Given the description of an element on the screen output the (x, y) to click on. 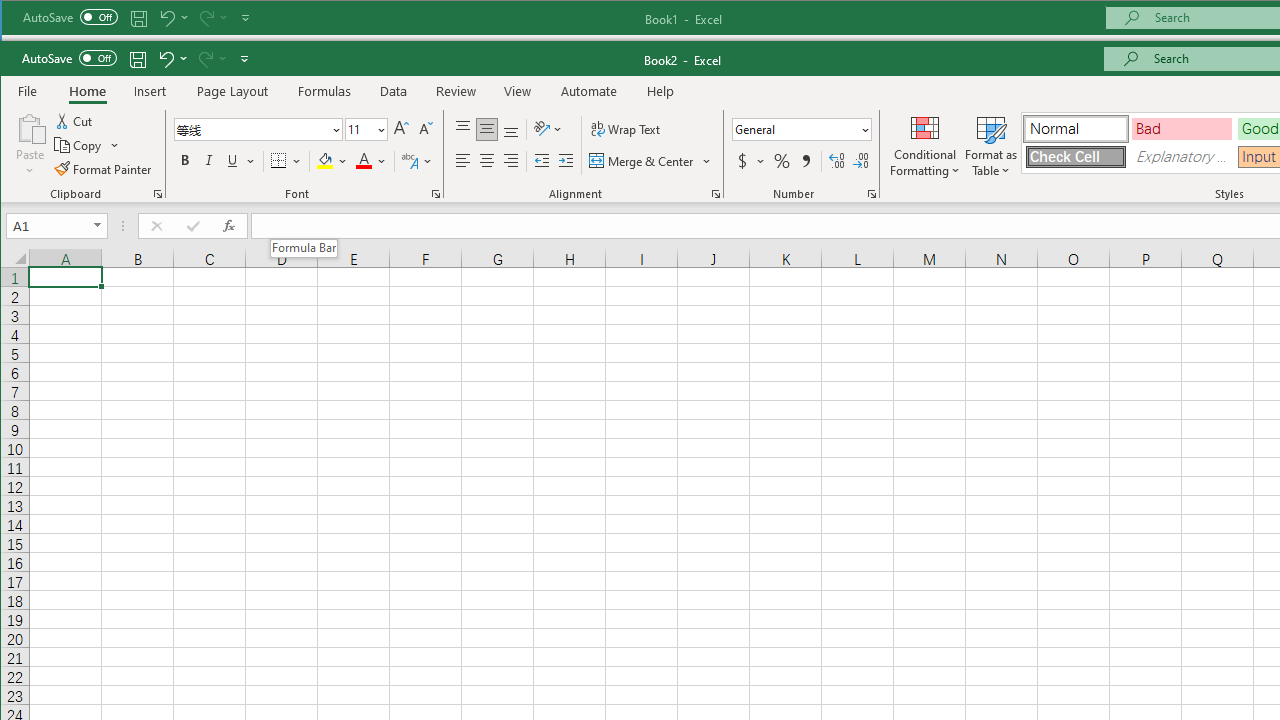
Insert (150, 91)
Accounting Number Format (750, 160)
AutoSave (68, 57)
Fill Color RGB(255, 255, 0) (324, 160)
Format Cell Alignment (715, 193)
Formulas (325, 91)
Paste (29, 127)
Bottom Border (278, 160)
Merge & Center (643, 160)
Help (660, 91)
Align Left (462, 160)
Wrap Text (626, 129)
Font (251, 129)
Merge & Center (650, 160)
